Given the description of an element on the screen output the (x, y) to click on. 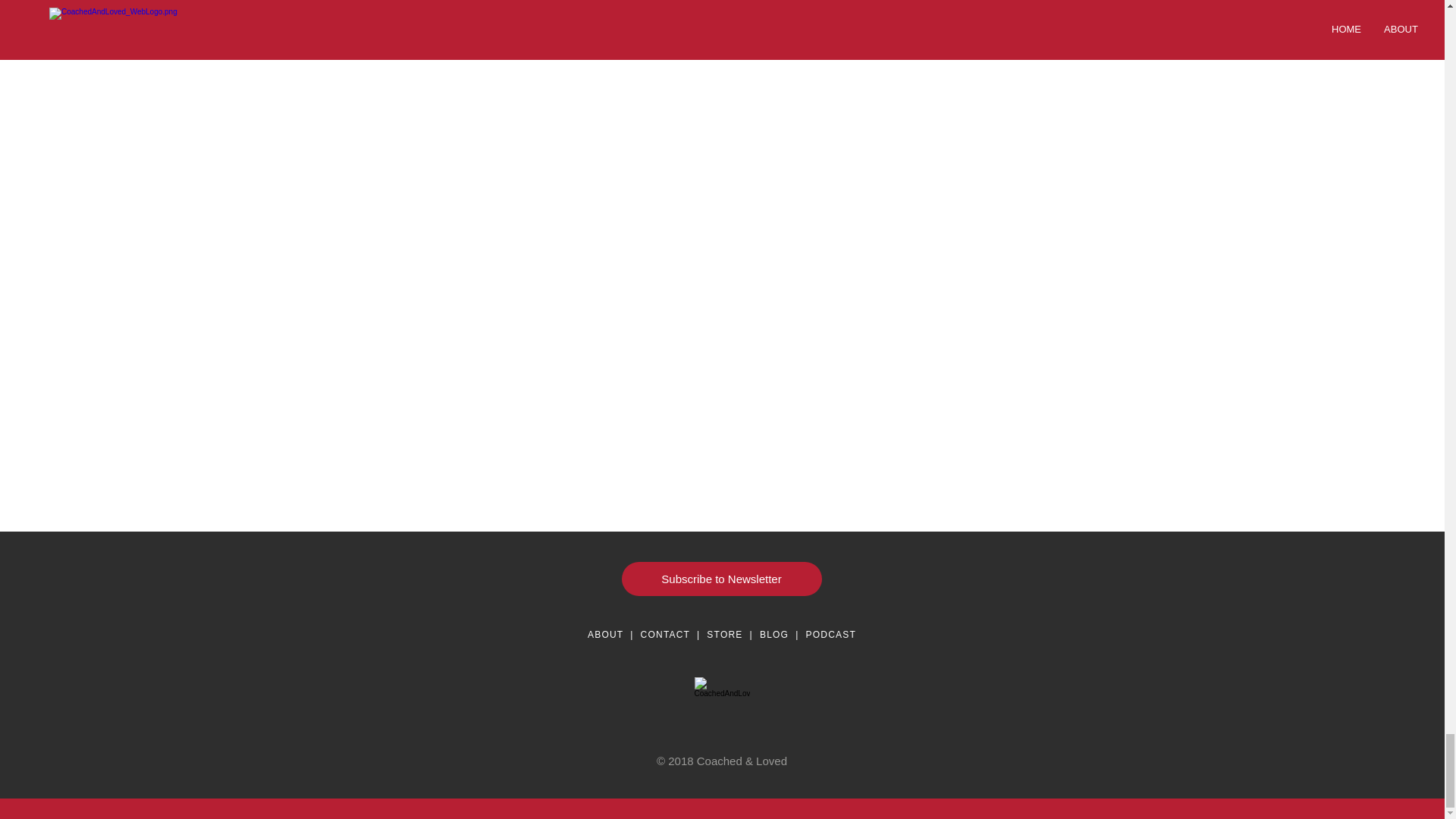
STORE (724, 634)
PODCAST (831, 634)
CONTACT (665, 634)
BLOG (774, 634)
ABOUT (605, 634)
Subscribe to Newsletter (721, 578)
